Given the description of an element on the screen output the (x, y) to click on. 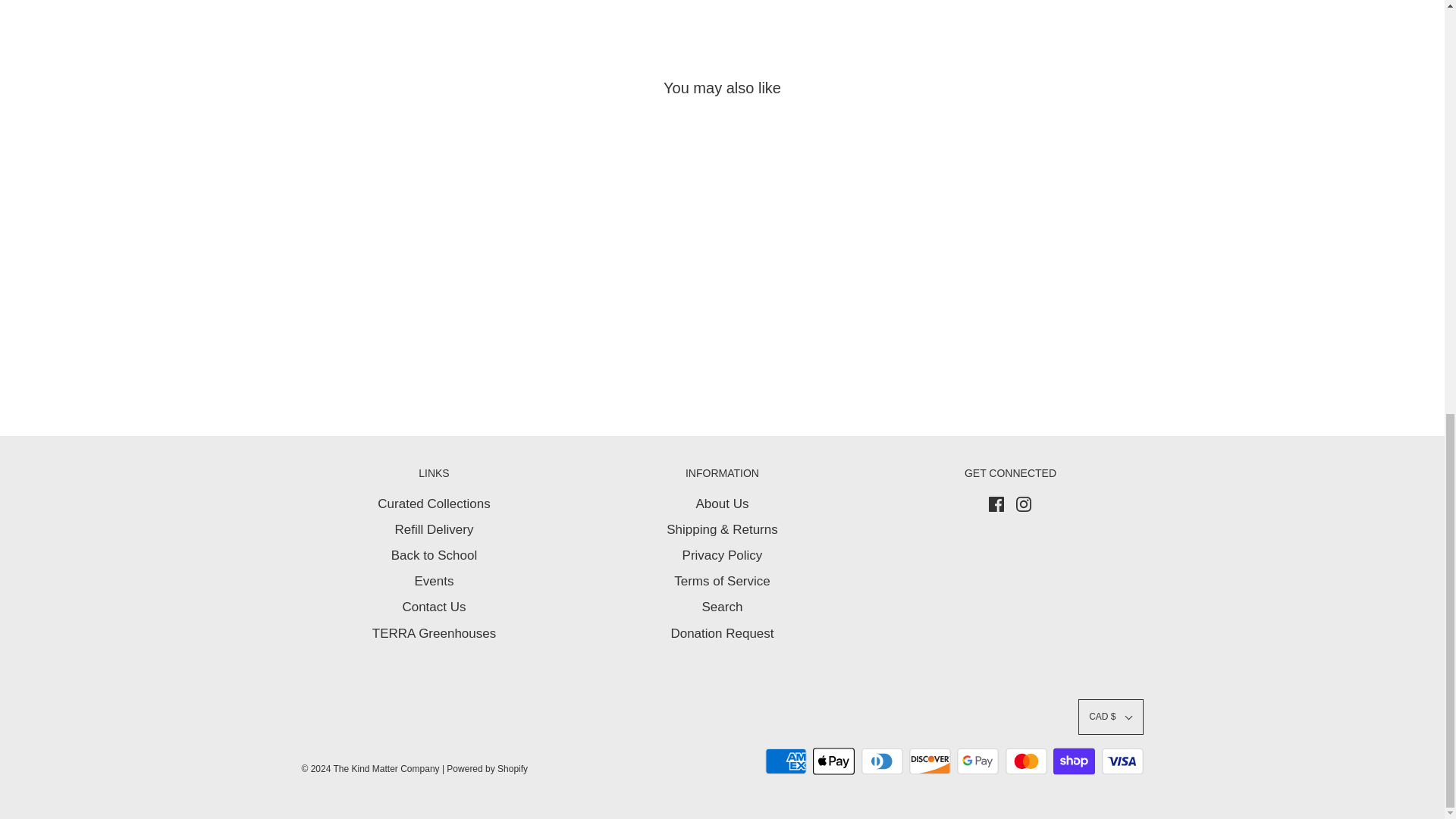
Mastercard (1026, 761)
Google Pay (977, 761)
Instagram icon (1023, 503)
American Express (785, 761)
Discover (929, 761)
Diners Club (881, 761)
Apple Pay (833, 761)
Facebook icon (996, 503)
